Given the description of an element on the screen output the (x, y) to click on. 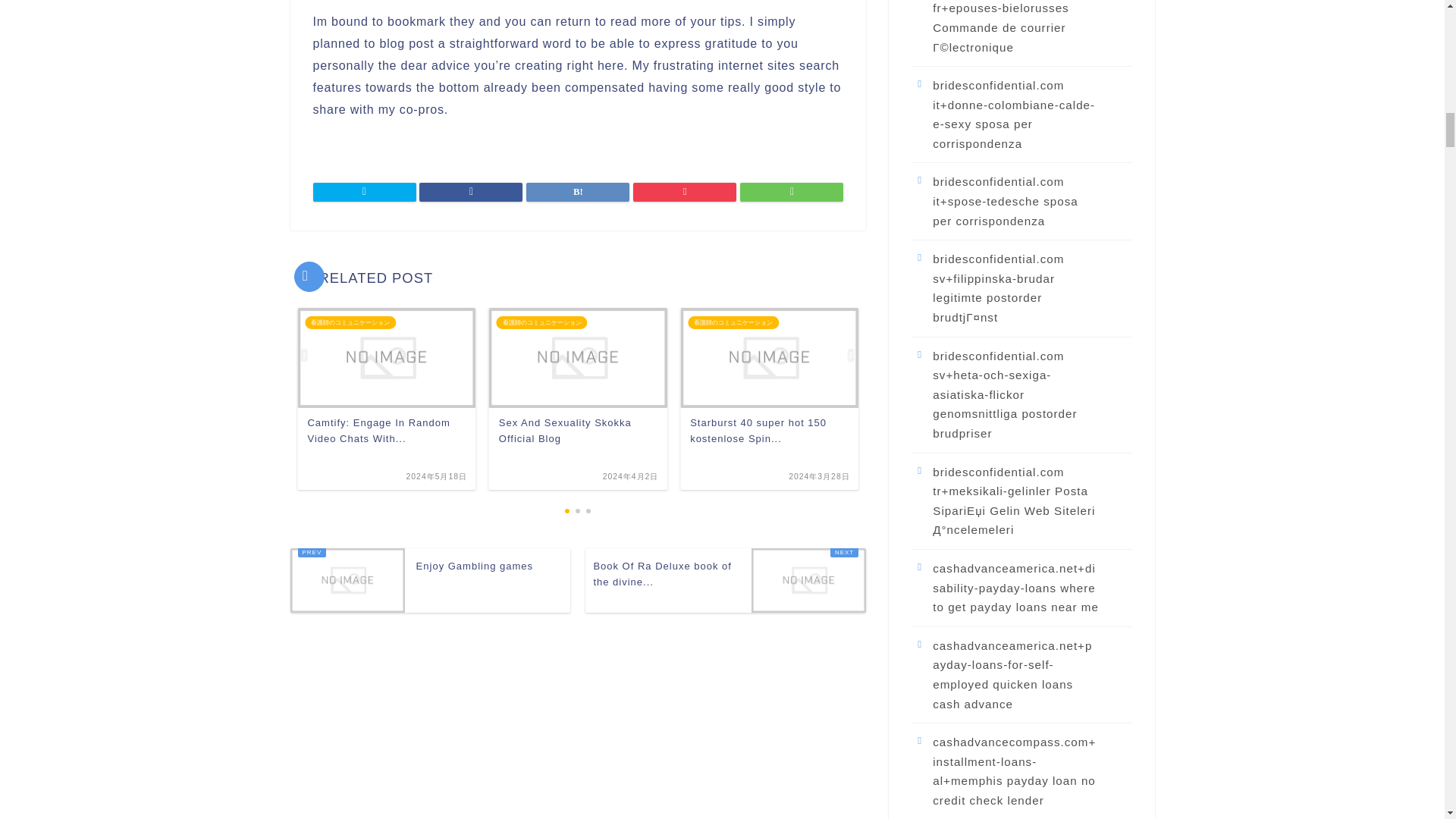
NO IMAGE (808, 579)
Enjoy Gambling games (429, 579)
NO IMAGE (346, 579)
Book Of Ra Deluxe book of the divine... (725, 579)
Enjoy Gambling games (429, 579)
